Given the description of an element on the screen output the (x, y) to click on. 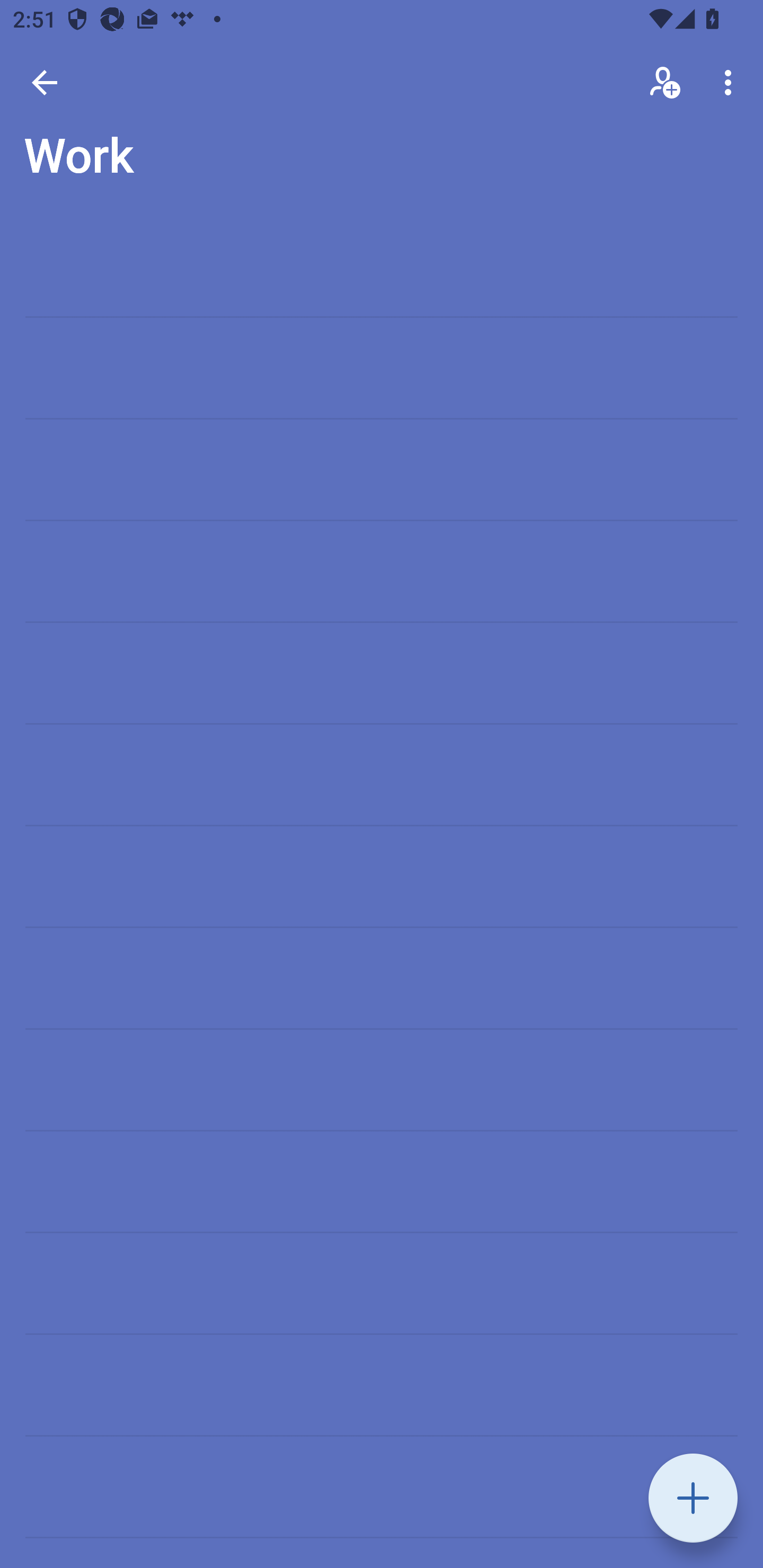
Add a task (692, 1497)
